Given the description of an element on the screen output the (x, y) to click on. 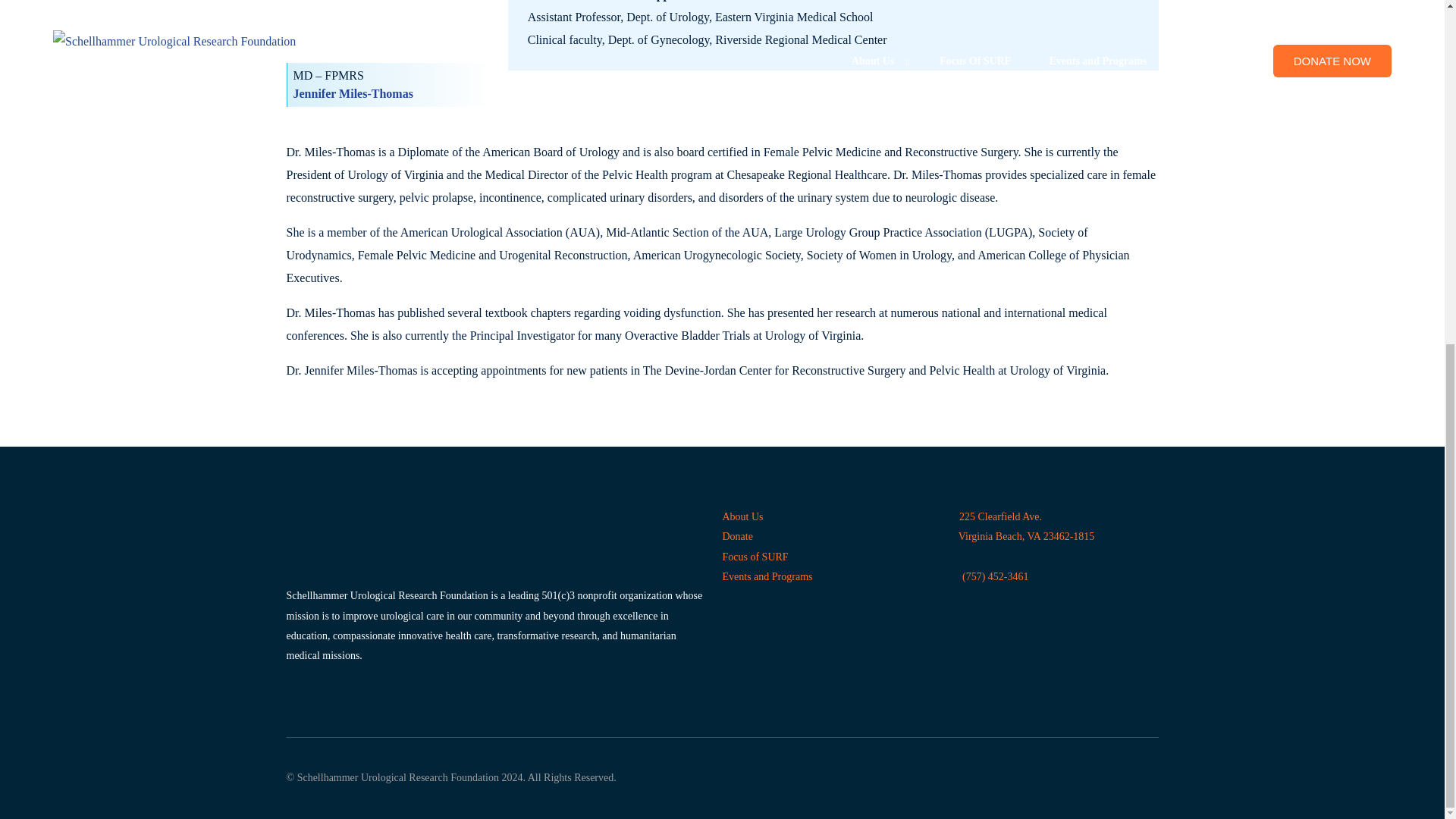
Events and Programs (767, 576)
Jennifer Miles-Thomas (352, 92)
Donate (737, 536)
Focus of SURF (754, 556)
About Us (1020, 526)
